Given the description of an element on the screen output the (x, y) to click on. 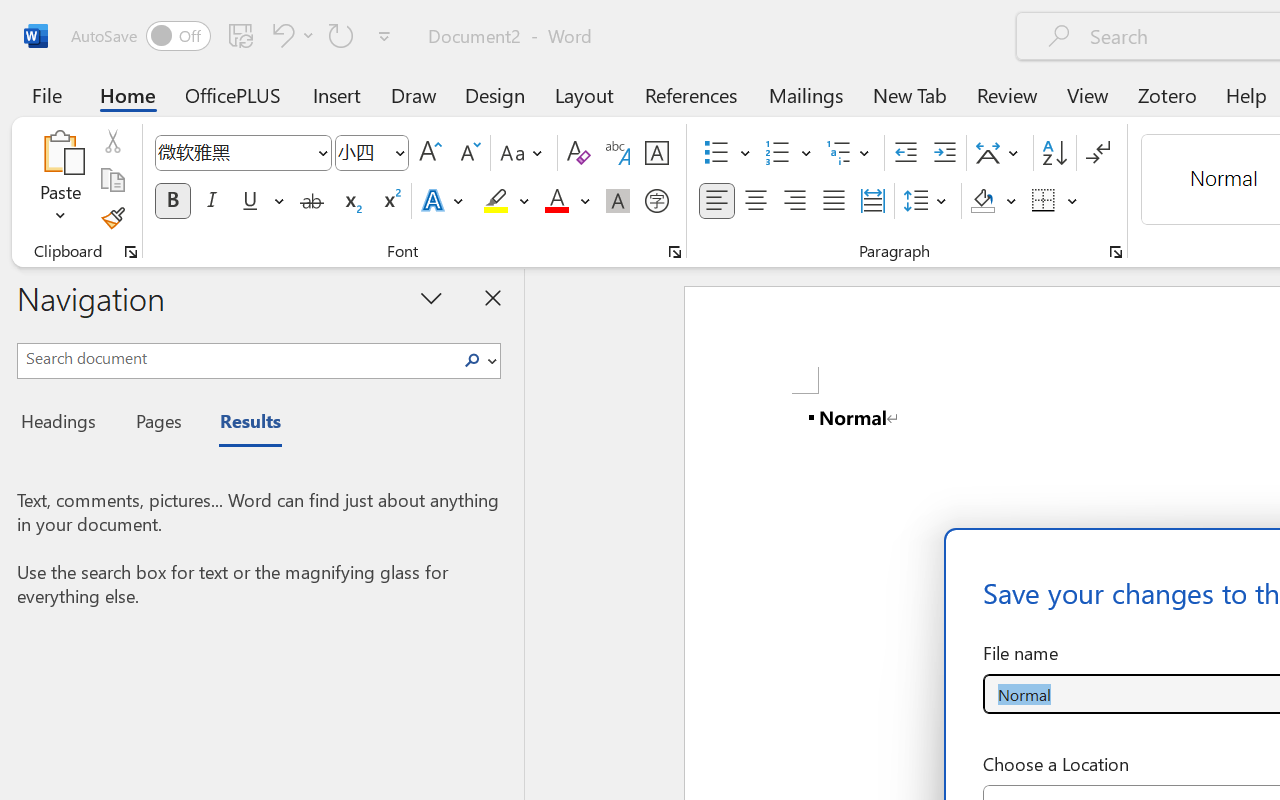
Cut (112, 141)
View (1087, 94)
Character Shading (618, 201)
References (690, 94)
Strikethrough (312, 201)
Paragraph... (1115, 252)
Open (399, 152)
Paste (60, 151)
Paste (60, 179)
Show/Hide Editing Marks (1098, 153)
Superscript (390, 201)
File Tab (46, 94)
Increase Indent (944, 153)
Align Left (716, 201)
Search (478, 360)
